Given the description of an element on the screen output the (x, y) to click on. 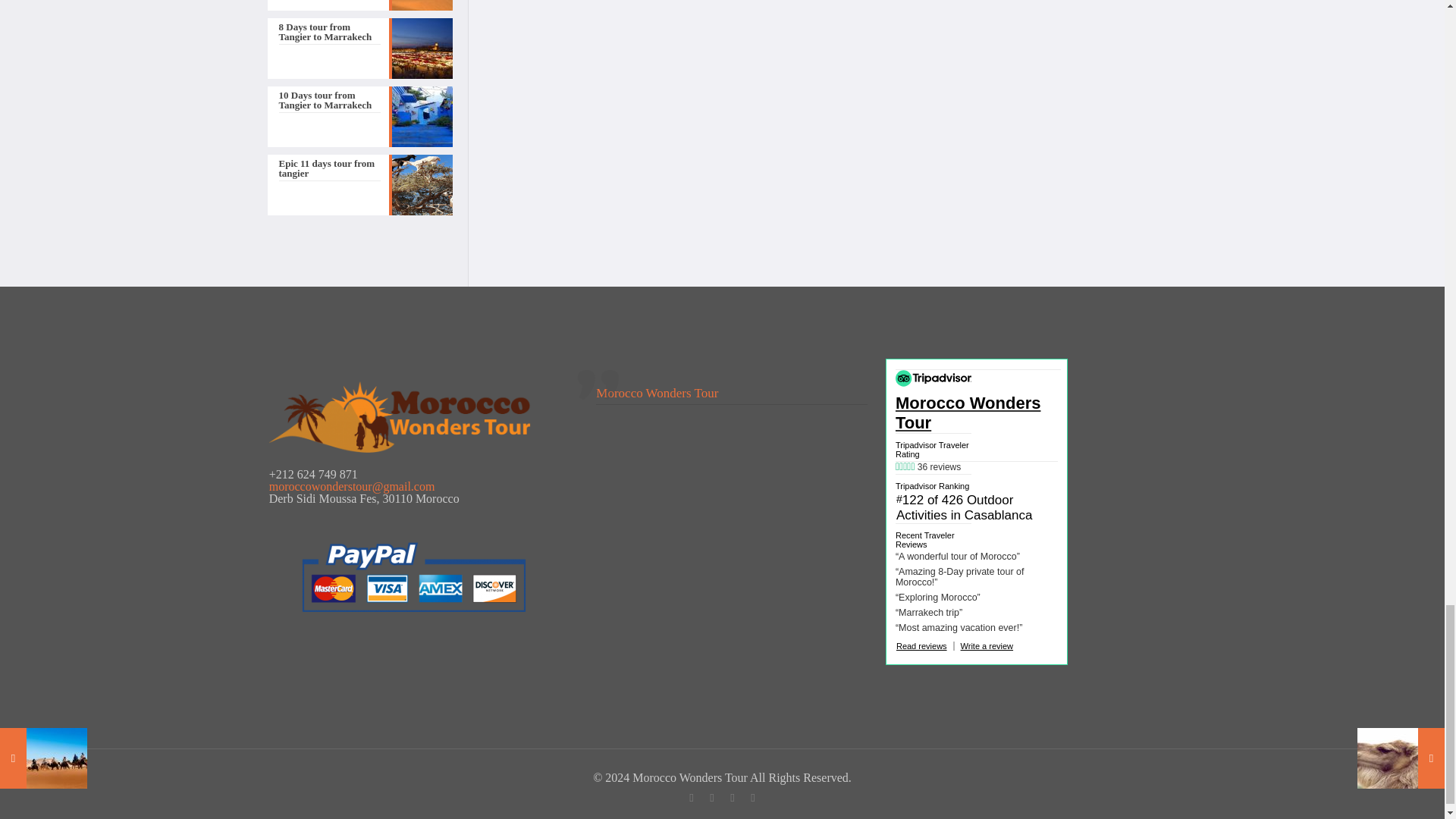
Instagram (731, 797)
Twitter (711, 797)
TripAdvisor (752, 797)
Facebook (690, 797)
